Given the description of an element on the screen output the (x, y) to click on. 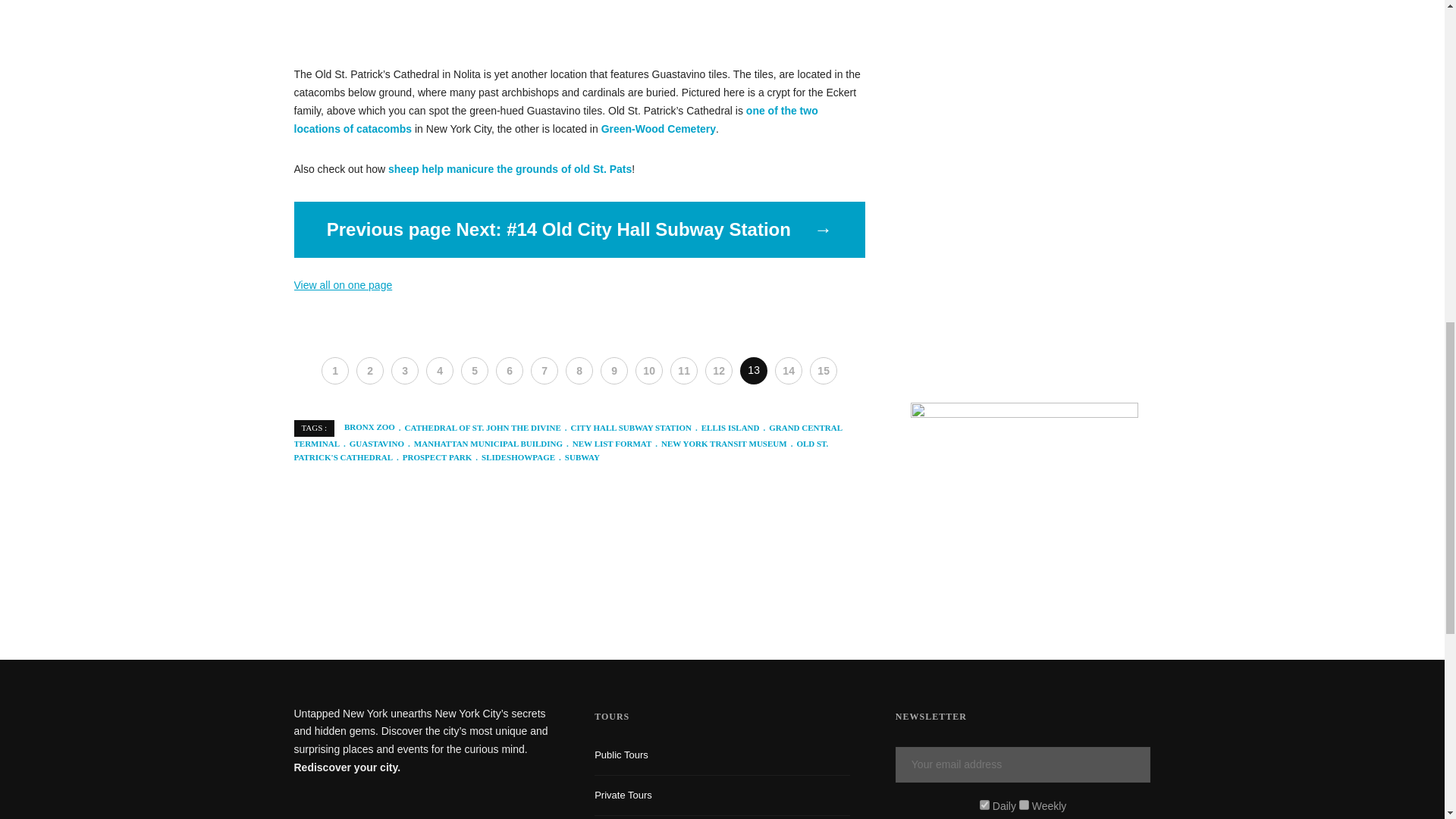
FareHarbor (1342, 64)
e99a09560c (984, 804)
7cff6a70fd (1024, 804)
